Given the description of an element on the screen output the (x, y) to click on. 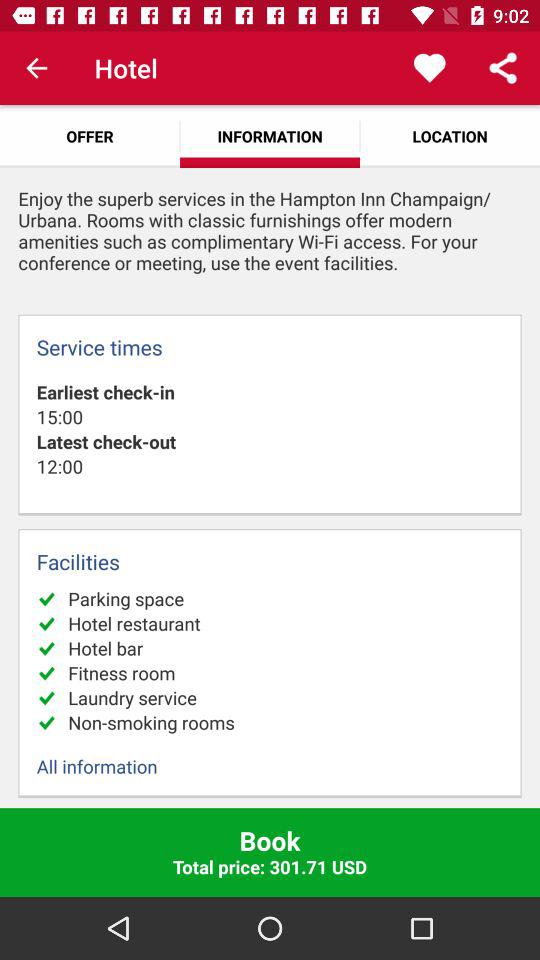
turn on the item above offer icon (36, 68)
